Given the description of an element on the screen output the (x, y) to click on. 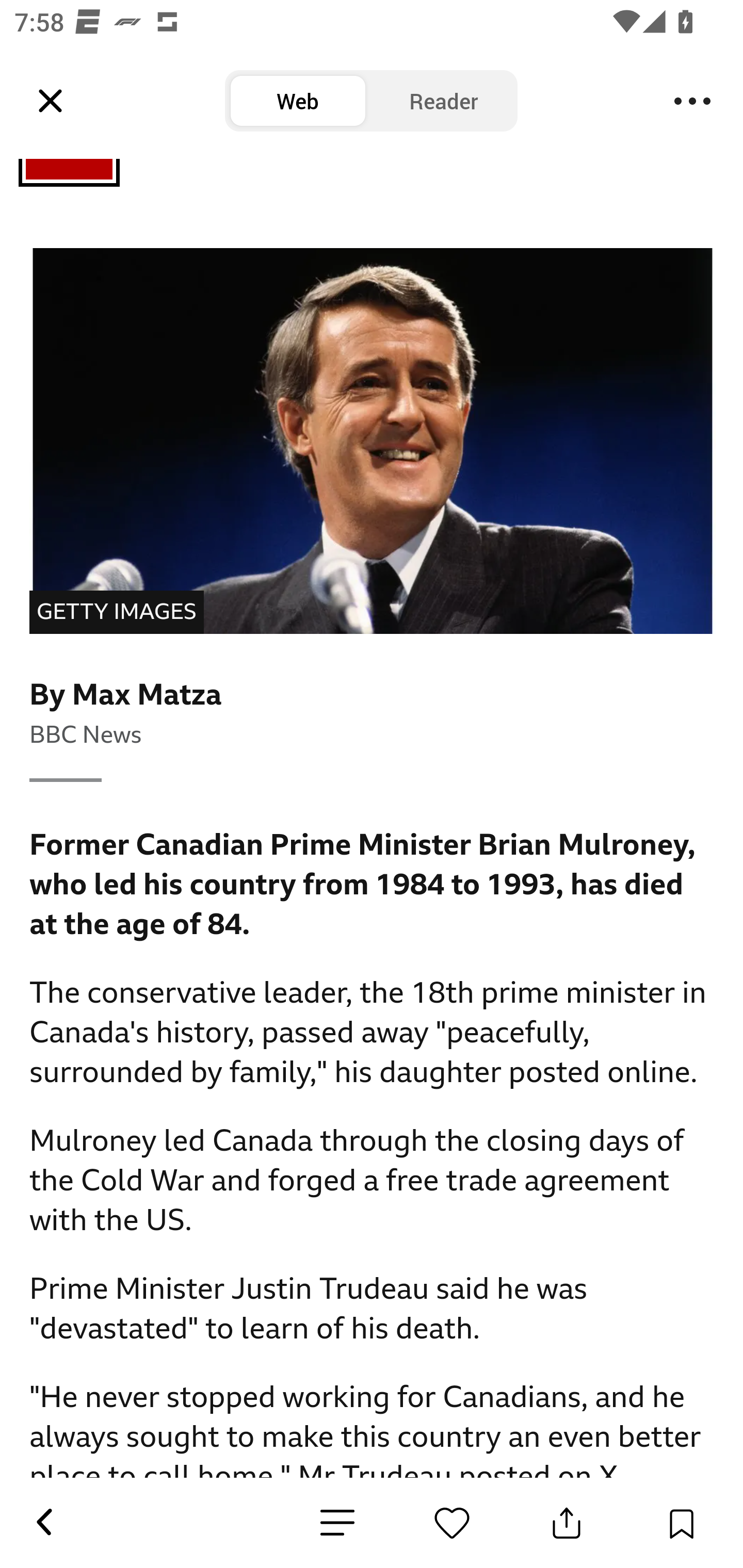
Leading Icon (50, 101)
Reader (443, 101)
Menu (692, 101)
Back Button (43, 1523)
News Detail Emotion (451, 1523)
Share Button (566, 1523)
Save Button (680, 1523)
News Detail Emotion (337, 1523)
